Given the description of an element on the screen output the (x, y) to click on. 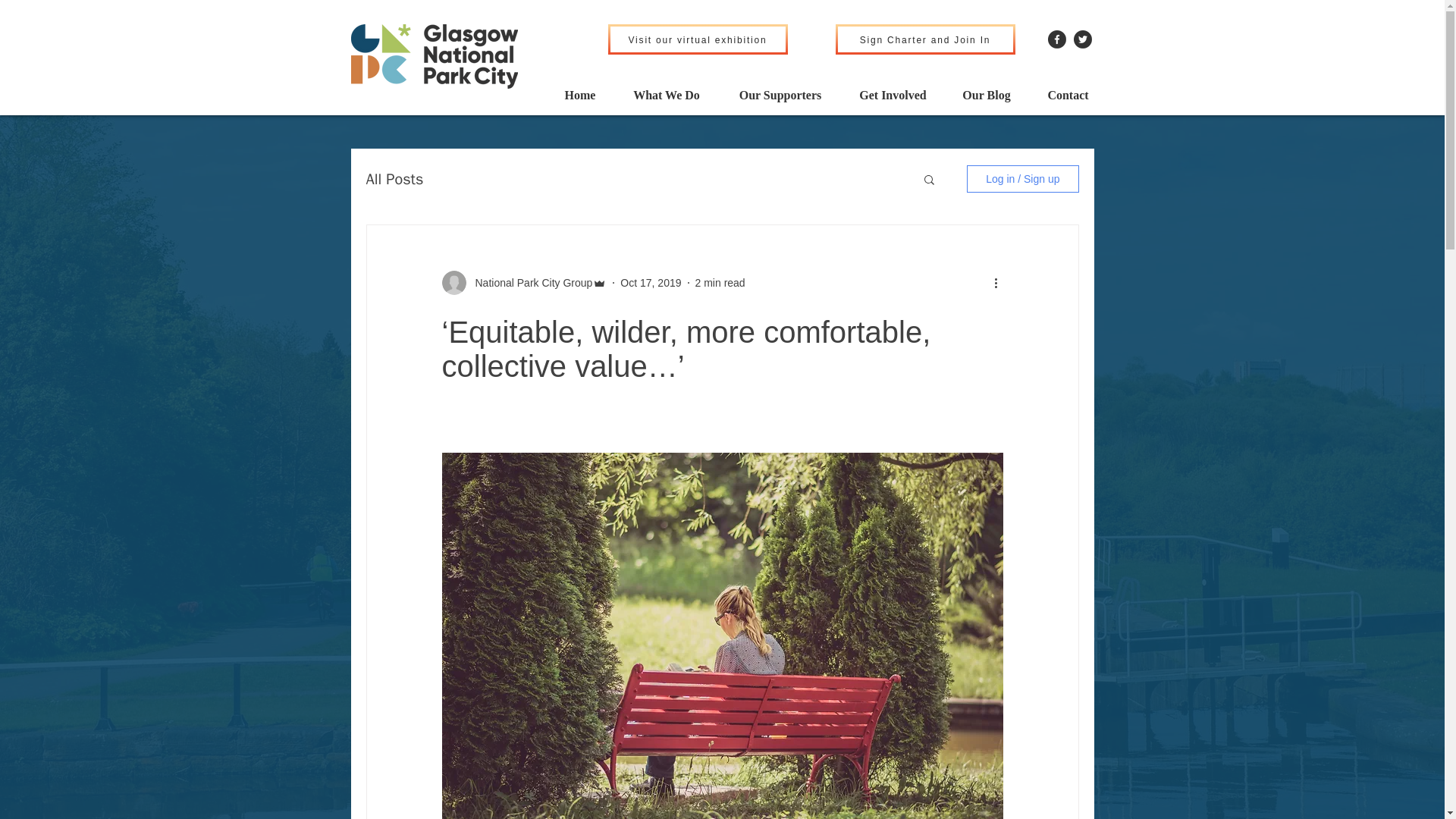
What We Do (665, 95)
Get Involved (892, 95)
All Posts (394, 178)
2 min read (720, 282)
Contact (1067, 95)
Sign Charter and Join In (924, 39)
Our Blog (985, 95)
National Park City Group (528, 282)
Oct 17, 2019 (650, 282)
Visit our virtual exhibition (697, 39)
